Given the description of an element on the screen output the (x, y) to click on. 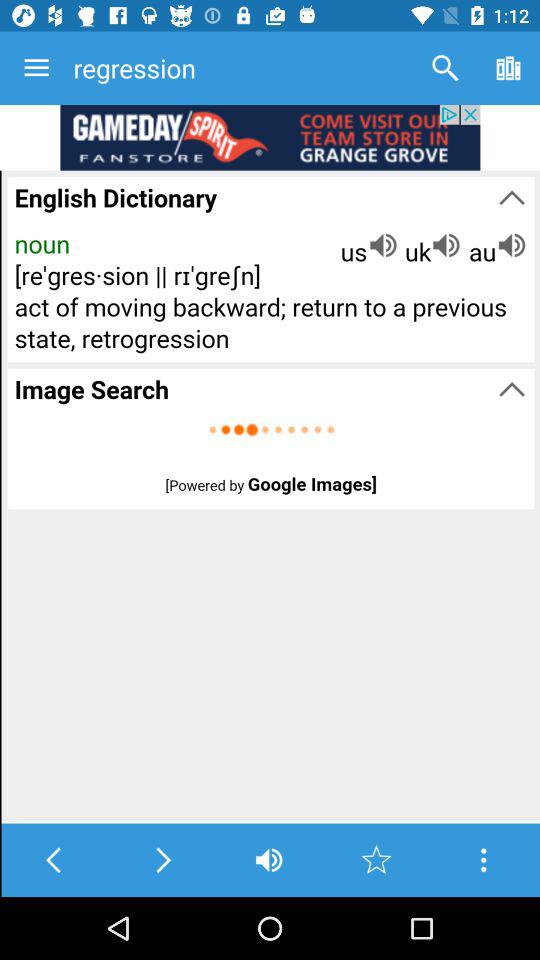
go back (54, 859)
